Given the description of an element on the screen output the (x, y) to click on. 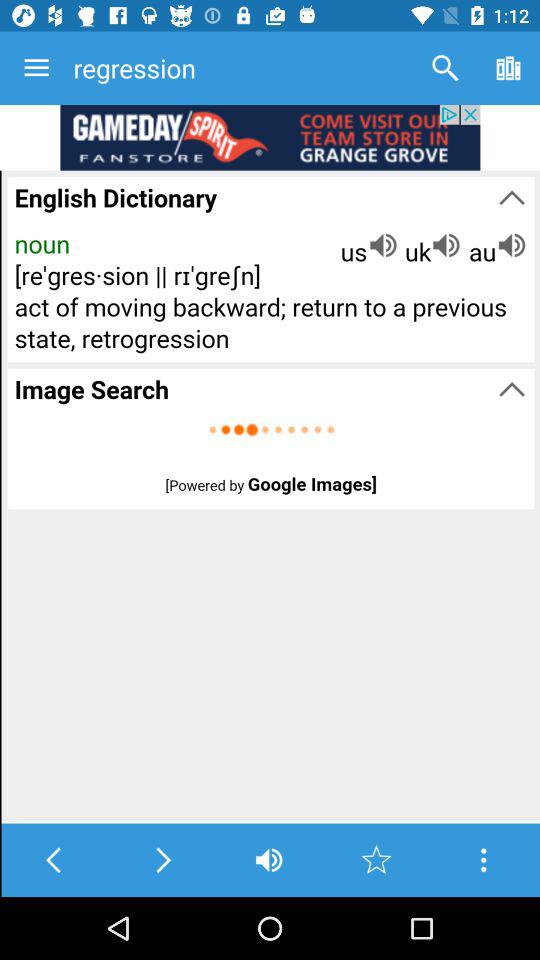
go back (54, 859)
